Given the description of an element on the screen output the (x, y) to click on. 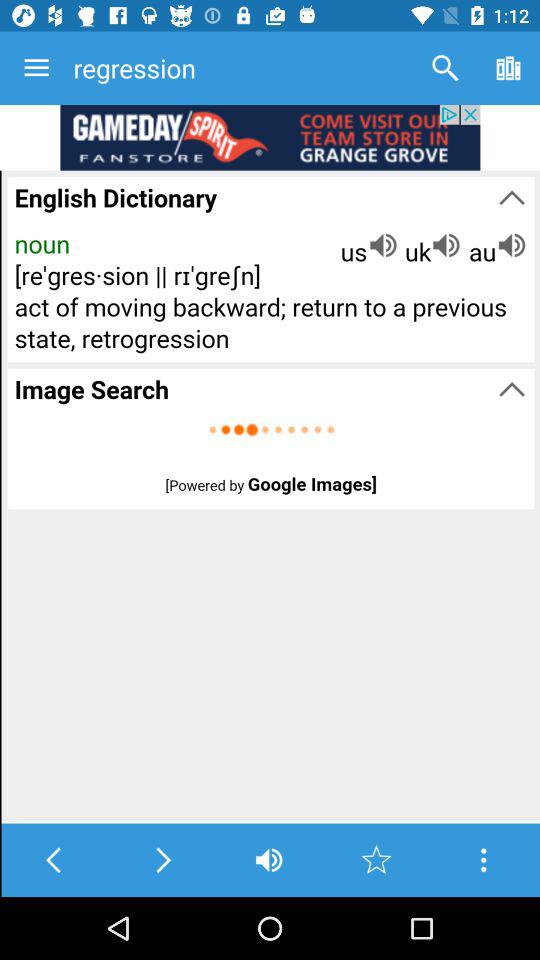
go back (54, 859)
